Given the description of an element on the screen output the (x, y) to click on. 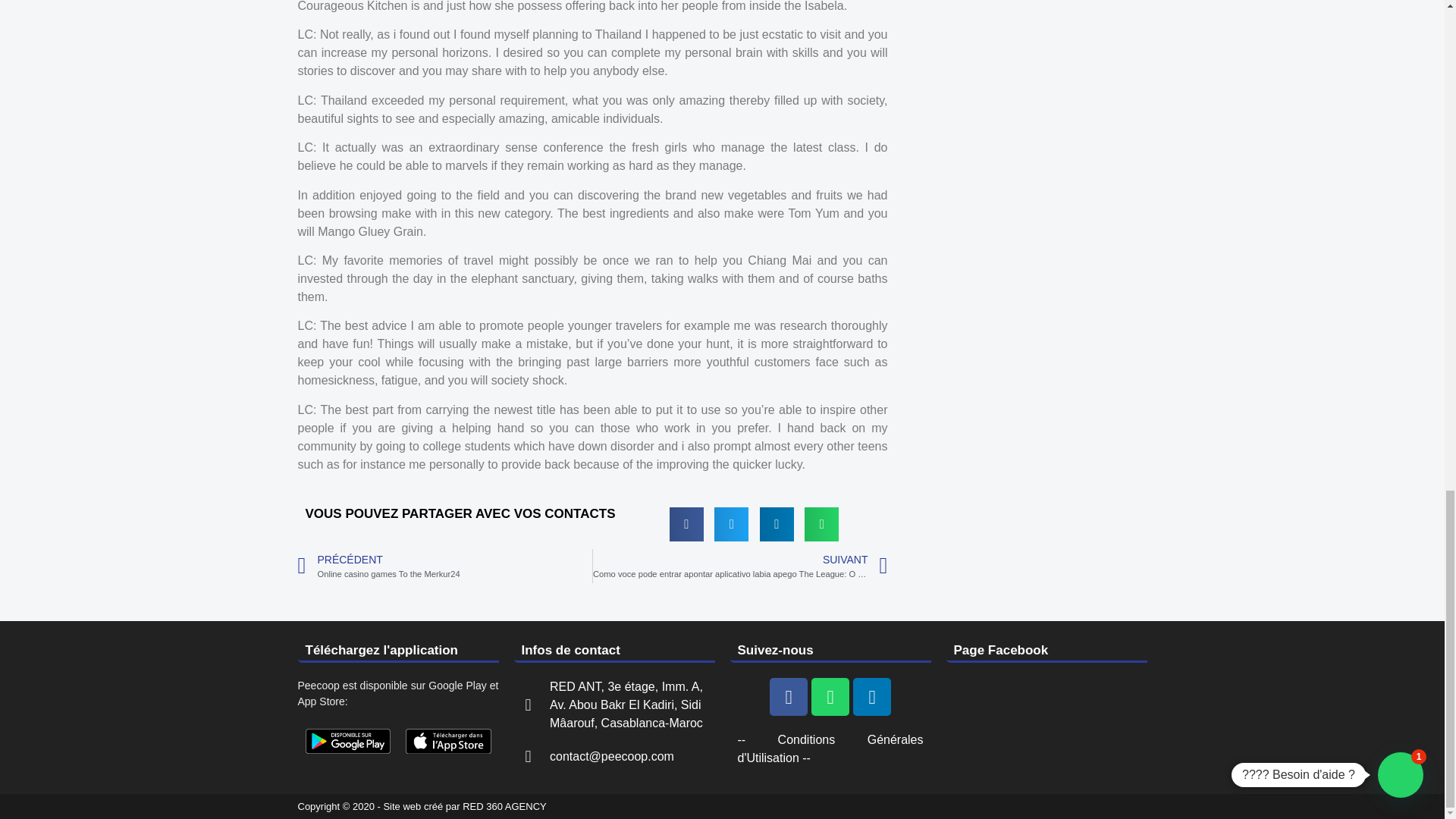
Peecoop (449, 740)
Peecoop (347, 740)
